Given the description of an element on the screen output the (x, y) to click on. 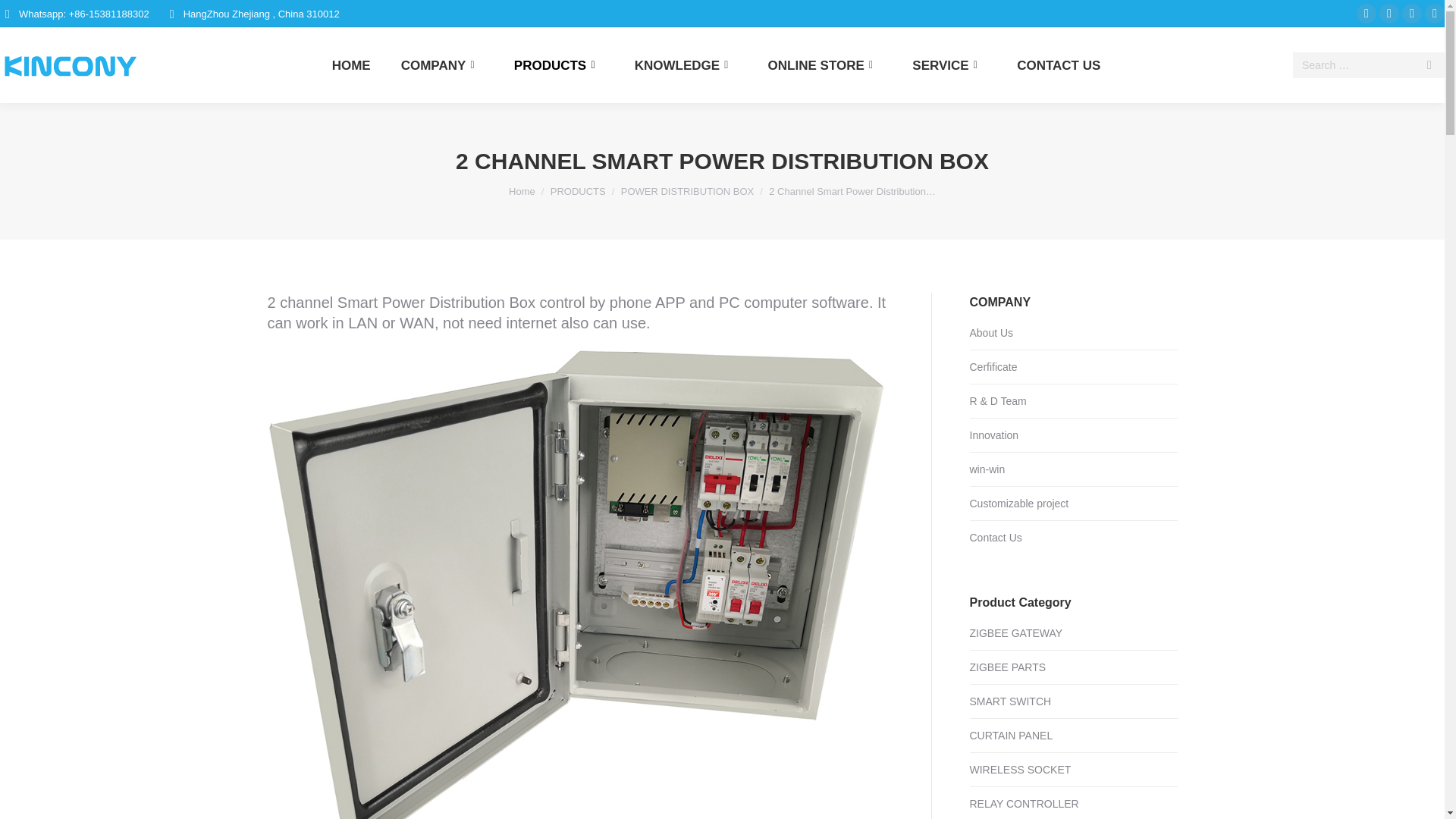
Facebook page opens in new window (1365, 13)
Skype page opens in new window (1412, 13)
Home (521, 191)
Twitter page opens in new window (1388, 13)
Skype page opens in new window (1412, 13)
HOME (351, 65)
PRODUCTS (559, 65)
COMPANY (442, 65)
Twitter page opens in new window (1388, 13)
PRODUCTS (577, 191)
Facebook page opens in new window (1365, 13)
